Given the description of an element on the screen output the (x, y) to click on. 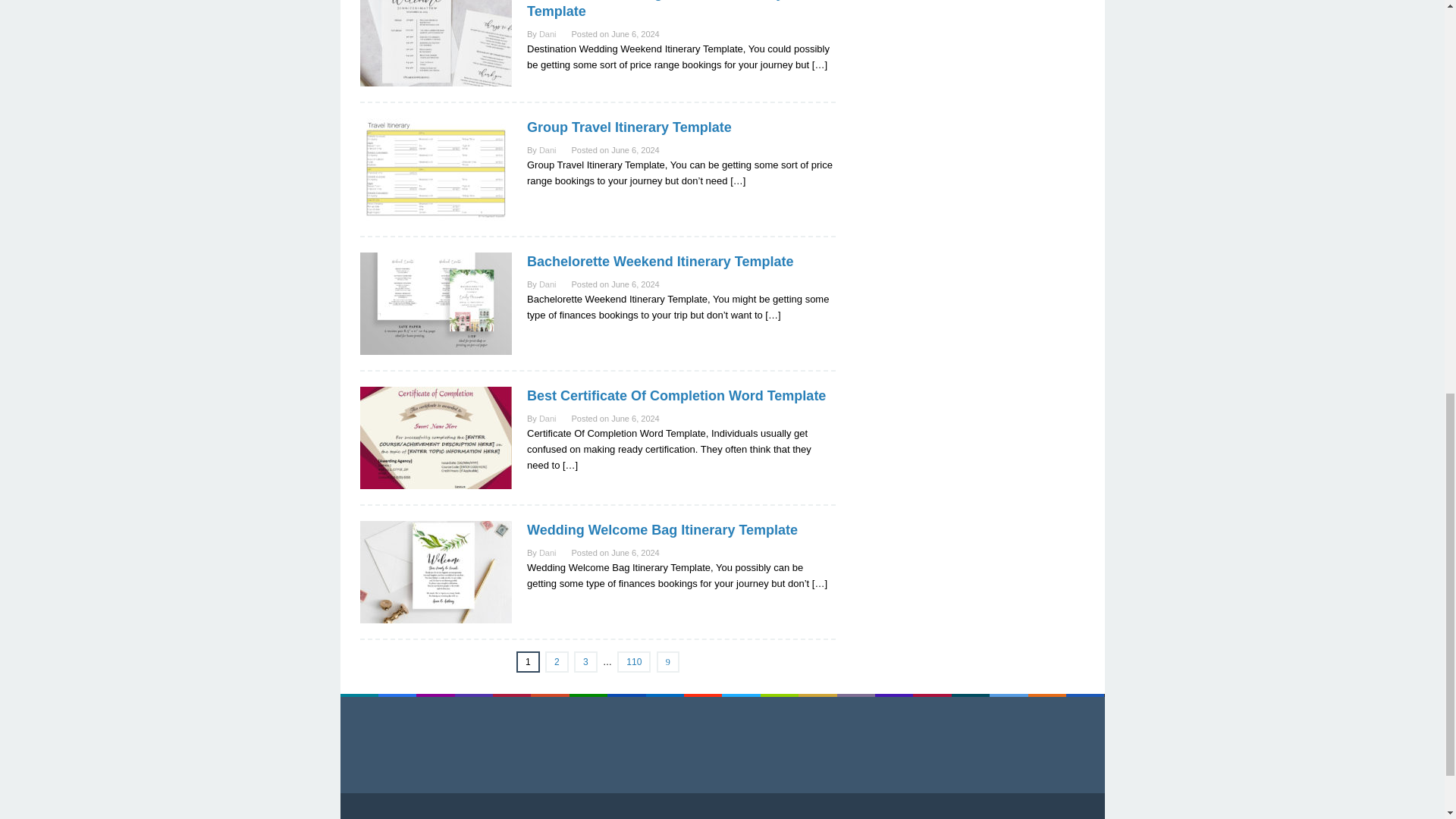
Best Certificate Of Completion Word Template (676, 395)
Destination Wedding Weekend Itinerary Template (655, 9)
Bachelorette Weekend Itinerary Template (660, 261)
Group Travel Itinerary Template (629, 127)
Dani (547, 284)
Dani (547, 33)
Dani (547, 149)
Dani (547, 418)
